Given the description of an element on the screen output the (x, y) to click on. 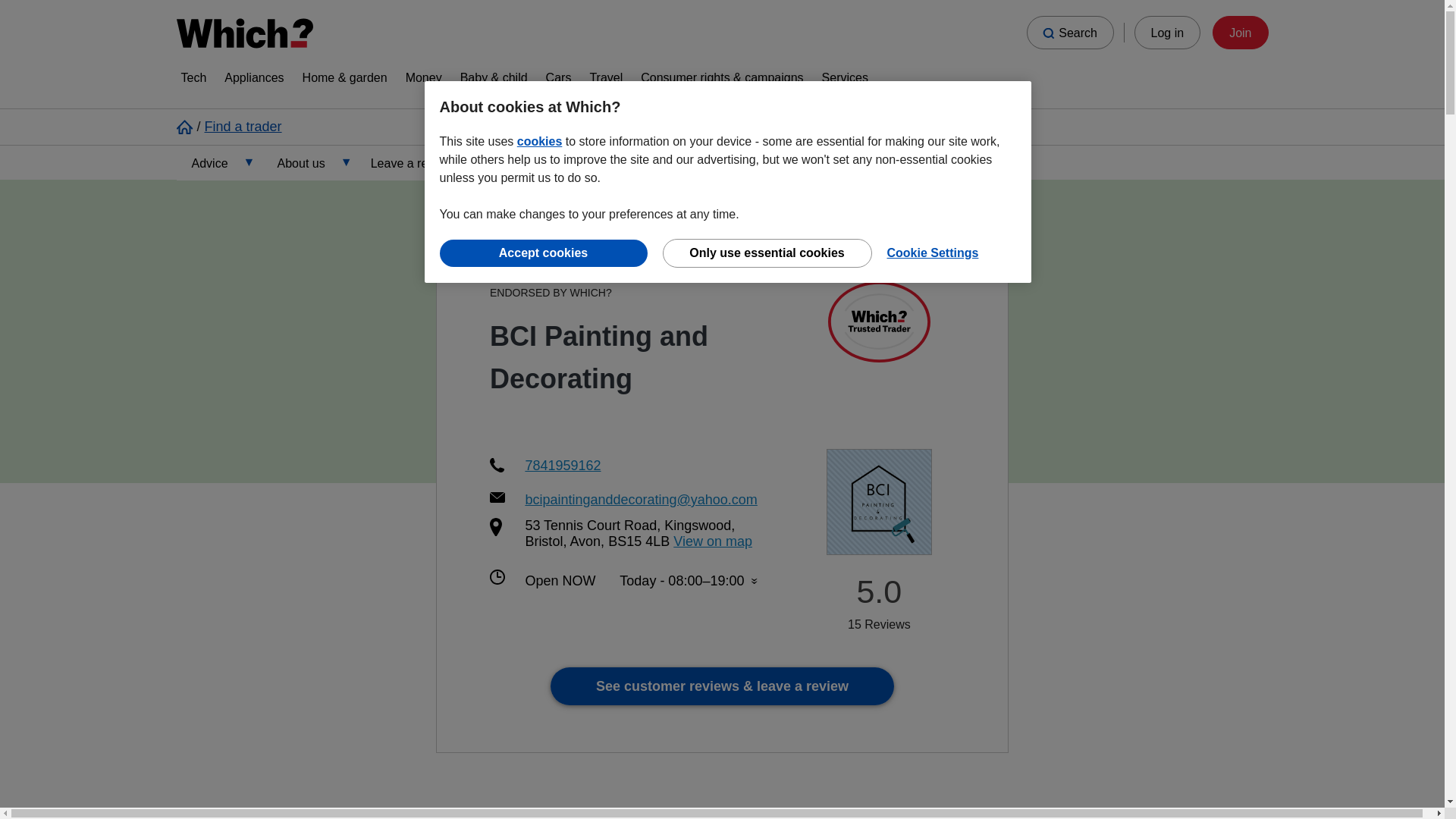
Tech (193, 79)
Join (1240, 32)
Log in (1167, 32)
Click to see all opening hours (689, 580)
Search (1069, 32)
